Given the description of an element on the screen output the (x, y) to click on. 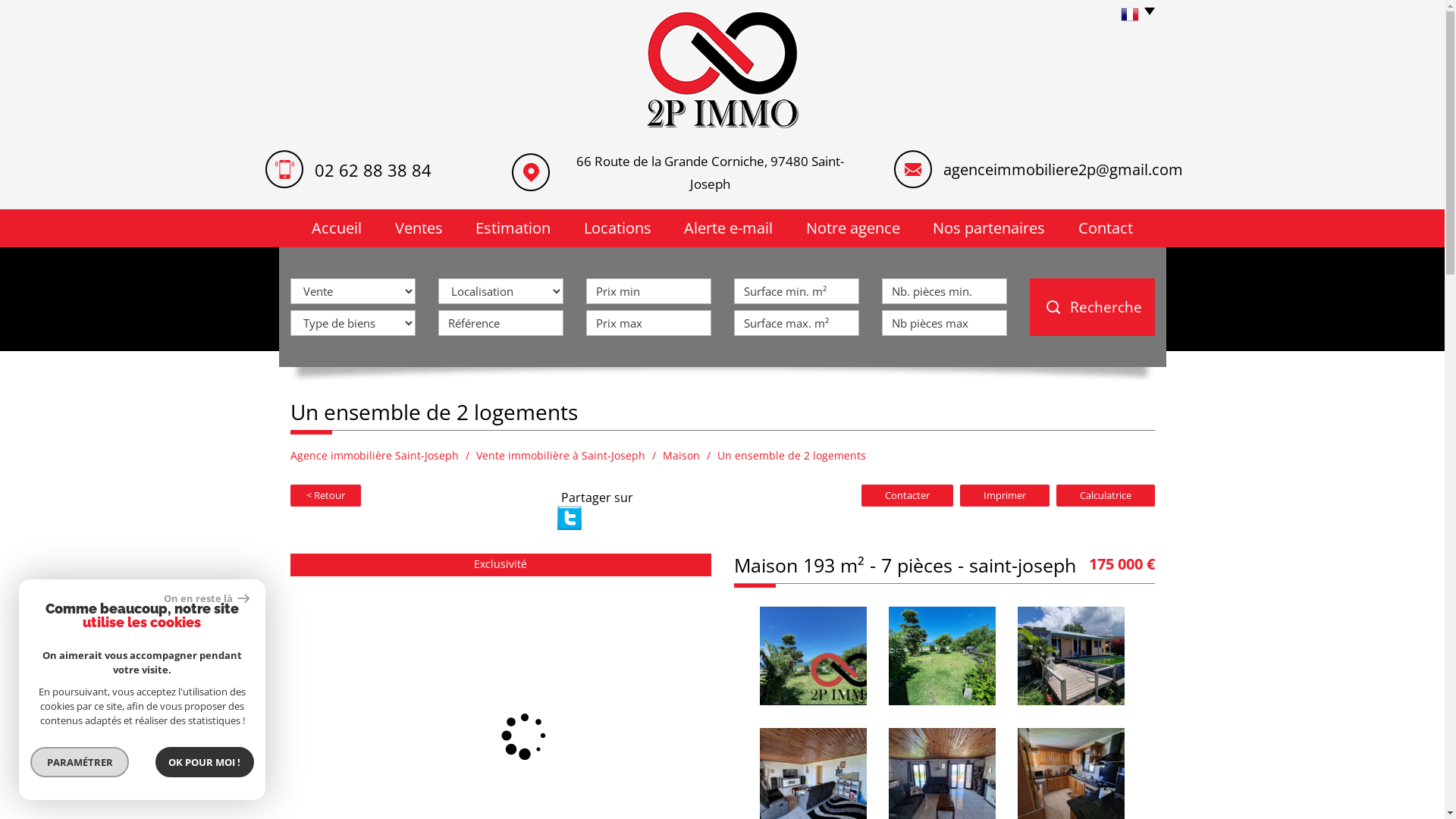
nos partenaires Element type: text (988, 228)
locations Element type: text (617, 228)
ventes Element type: text (418, 228)
notre agence Element type: text (852, 228)
Maison Element type: text (680, 455)
Calculatrice Element type: text (1104, 495)
agenceimmobiliere2p@gmail.com Element type: text (1063, 169)
Recherche Element type: text (1091, 306)
estimation Element type: text (513, 228)
Contacter Element type: text (907, 495)
accueil Element type: text (337, 228)
contact Element type: text (1105, 228)
alerte e-mail Element type: text (728, 228)
Imprimer Element type: text (1004, 495)
OK POUR MOI ! Element type: text (204, 761)
